Given the description of an element on the screen output the (x, y) to click on. 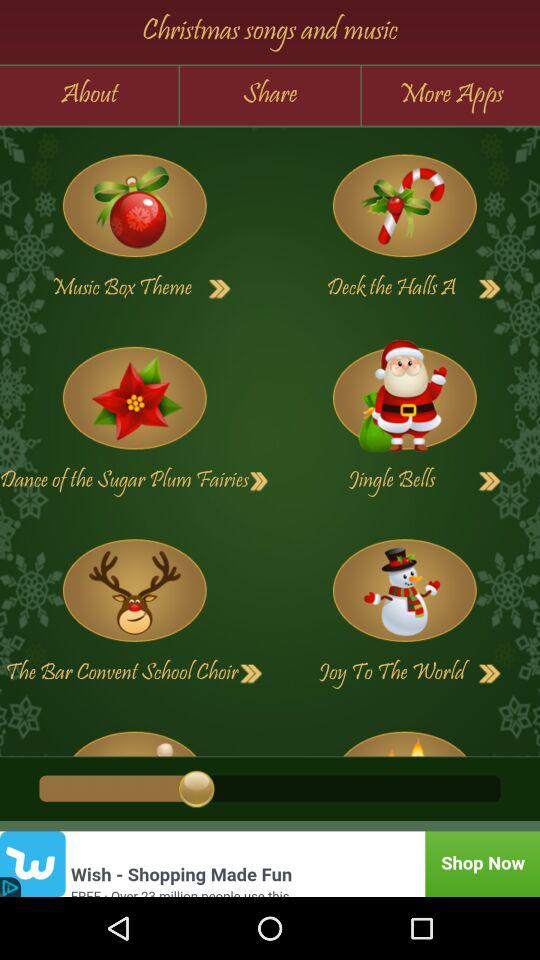
play button (490, 481)
